Given the description of an element on the screen output the (x, y) to click on. 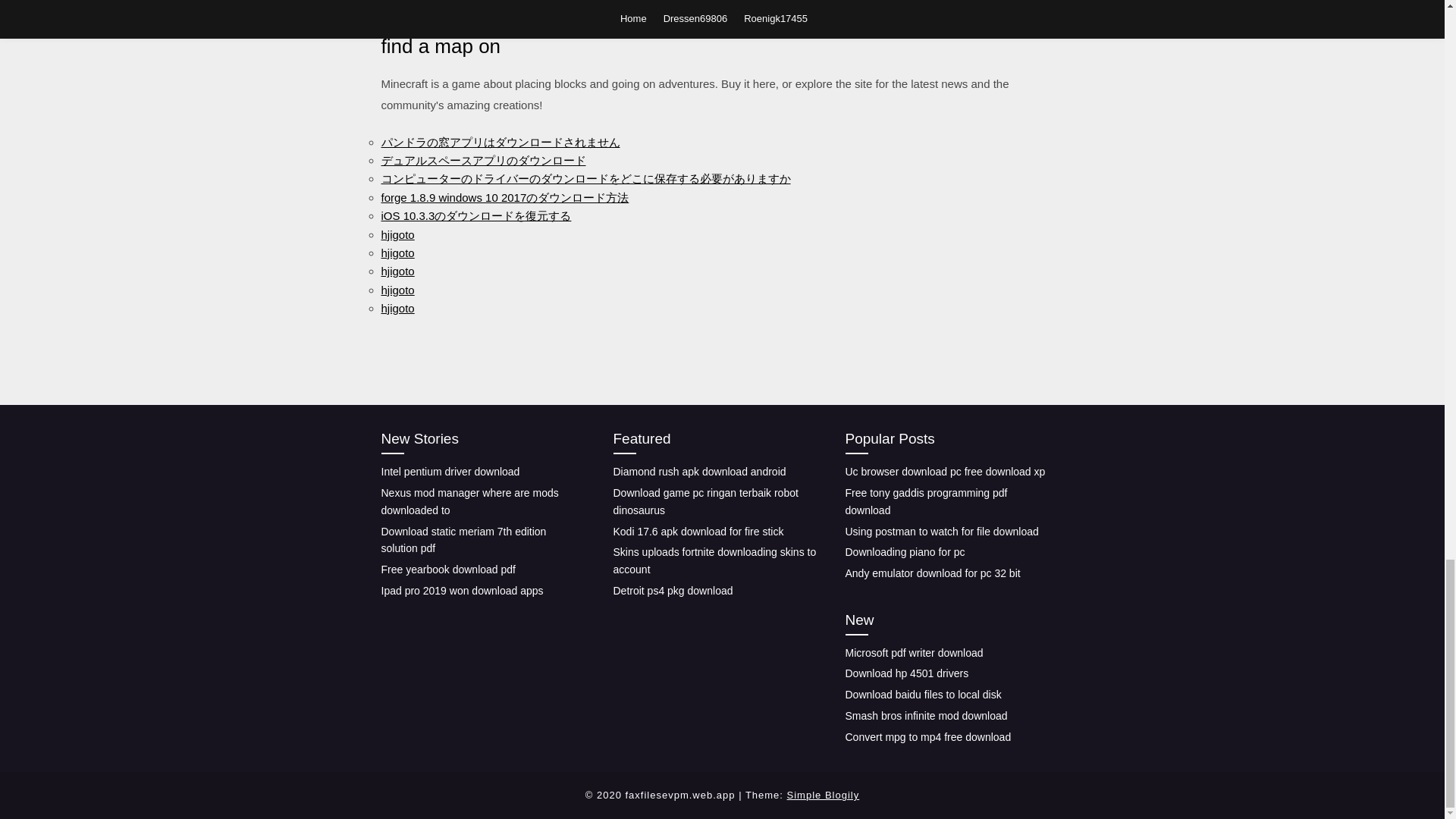
Convert mpg to mp4 free download (927, 736)
Ipad pro 2019 won download apps (461, 590)
hjigoto (396, 270)
Smash bros infinite mod download (925, 715)
Simple Blogily (823, 794)
Microsoft pdf writer download (913, 653)
hjigoto (396, 289)
Download baidu files to local disk (922, 694)
Intel pentium driver download (449, 471)
Nexus mod manager where are mods downloaded to (468, 501)
Download static meriam 7th edition solution pdf (463, 540)
Kodi 17.6 apk download for fire stick (697, 531)
Skins uploads fortnite downloading skins to account (713, 560)
Download game pc ringan terbaik robot dinosaurus (704, 501)
Using postman to watch for file download (941, 531)
